Given the description of an element on the screen output the (x, y) to click on. 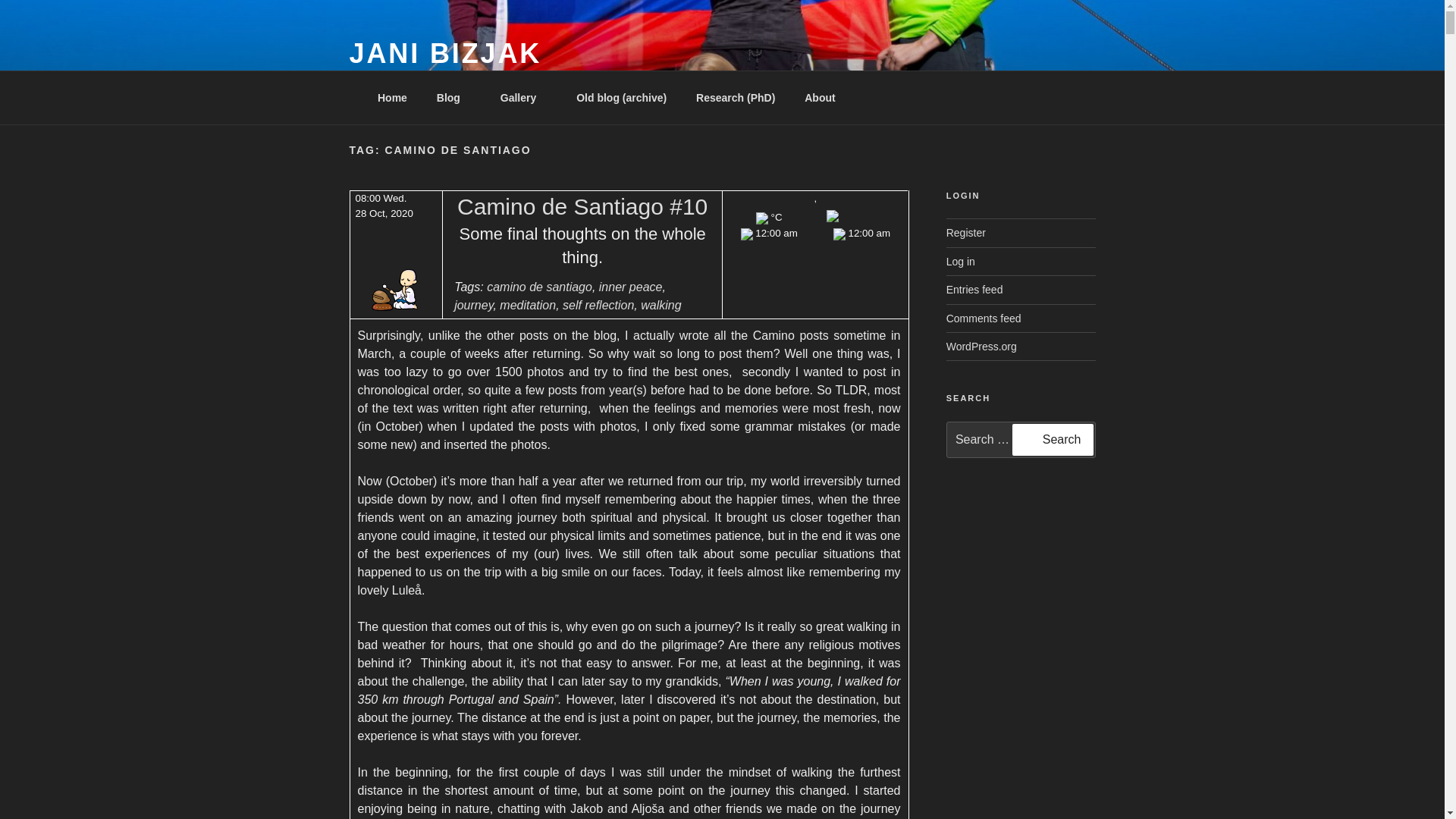
Home (392, 97)
Gallery (522, 97)
Blog (453, 97)
JANI BIZJAK (445, 52)
